Given the description of an element on the screen output the (x, y) to click on. 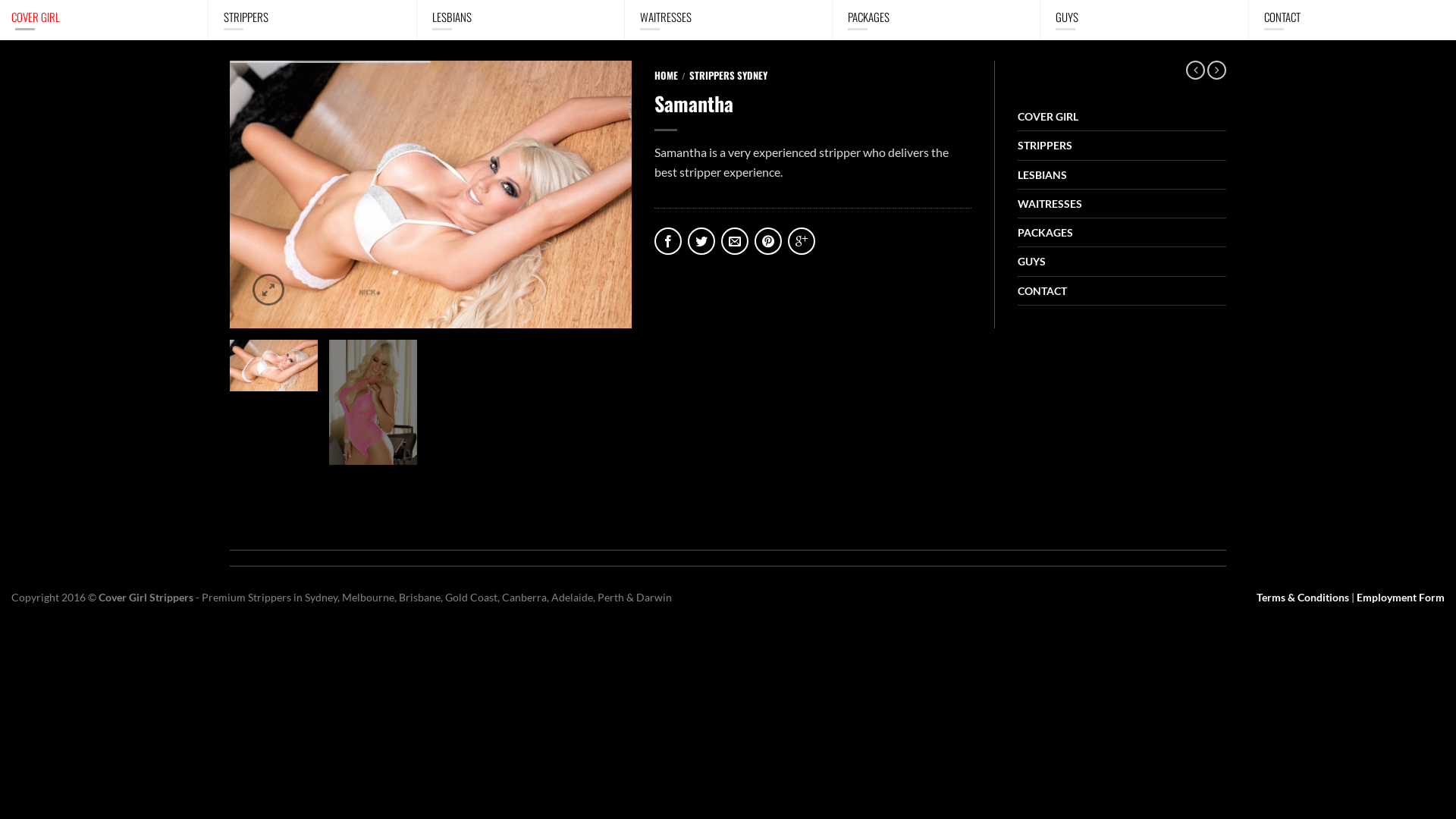
Covergirl full nude strippers Sydney Sam 1 Element type: hover (430, 192)
Covergirl full nude strippers Sydney Sam 1 Element type: hover (430, 194)
GUYS Element type: text (1143, 20)
Employment Form Element type: text (1400, 596)
PACKAGES Element type: text (1121, 232)
WAITRESSES Element type: text (1121, 203)
STRIPPERS Element type: text (1121, 145)
Terms & Conditions Element type: text (1302, 596)
HOME Element type: text (665, 75)
WAITRESSES Element type: text (727, 20)
COVER GIRL Element type: text (1121, 116)
STRIPPERS Element type: text (311, 20)
PACKAGES Element type: text (935, 20)
COVER GIRL Element type: text (103, 20)
LESBIANS Element type: text (520, 20)
LESBIANS Element type: text (1121, 174)
CONTACT Element type: text (1121, 290)
GUYS Element type: text (1121, 261)
STRIPPERS SYDNEY Element type: text (728, 75)
